Given the description of an element on the screen output the (x, y) to click on. 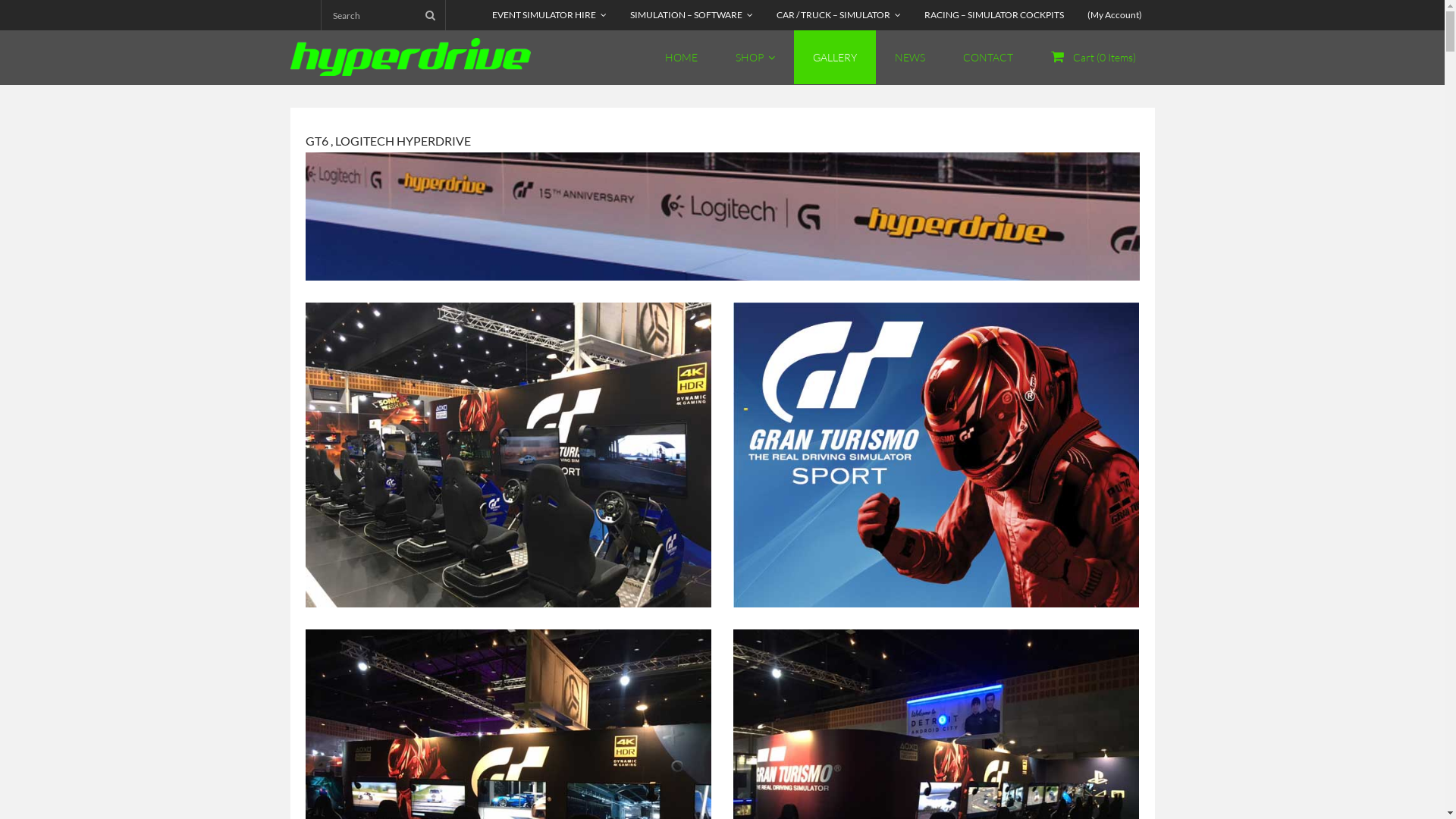
Cart (0 Items) Element type: text (1092, 57)
NEWS Element type: text (909, 57)
EVENT SIMULATOR HIRE Element type: text (549, 15)
CONTACT Element type: text (987, 57)
GALLERY Element type: text (834, 57)
Search Element type: text (32, 15)
HOME Element type: text (681, 57)
SHOP Element type: text (754, 57)
(My Account) Element type: text (1114, 15)
